Given the description of an element on the screen output the (x, y) to click on. 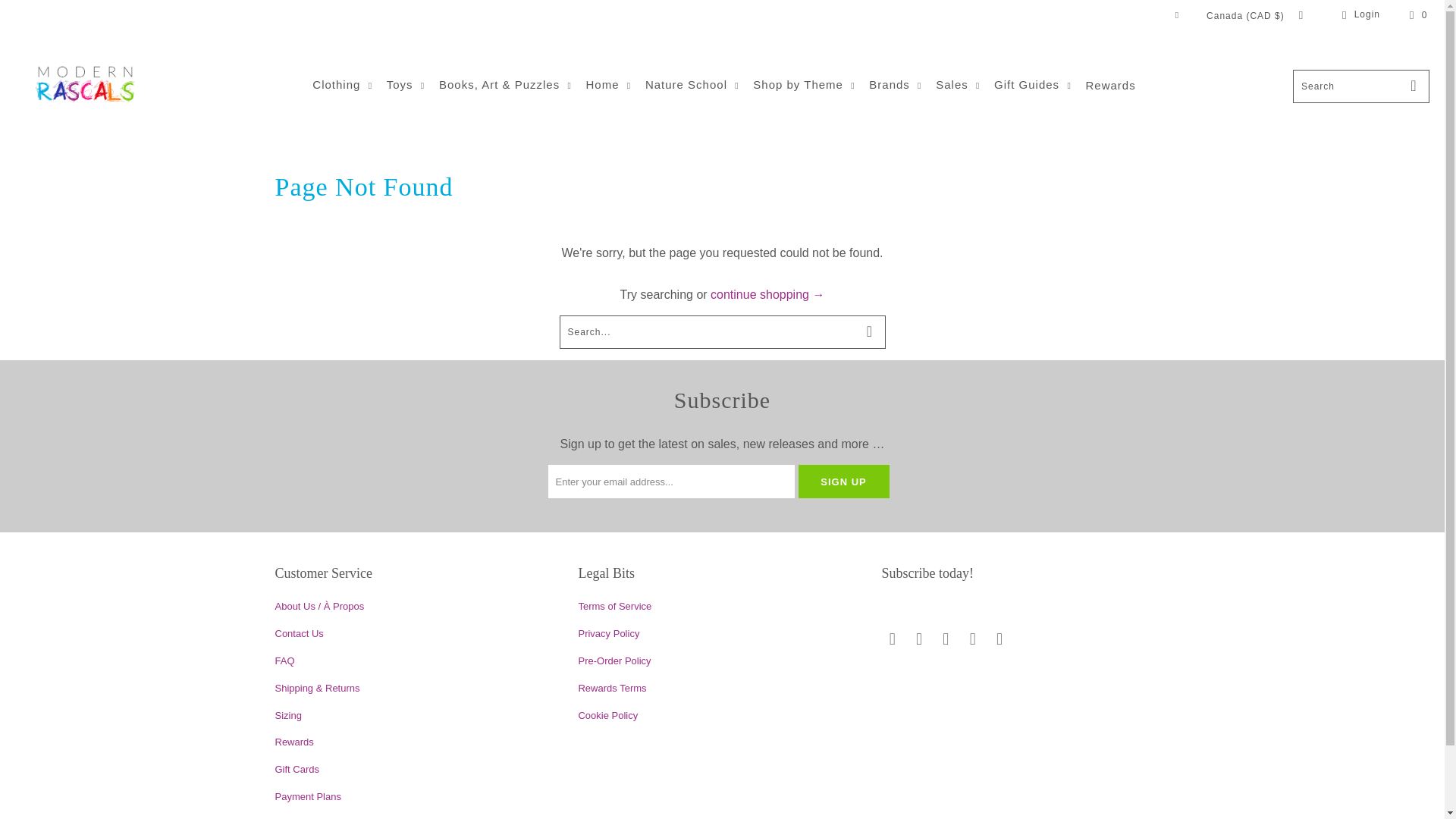
Modern Rascals on YouTube (999, 638)
Sign Up (842, 481)
Email Modern Rascals (892, 638)
Modern Rascals on Instagram (946, 638)
Modern Rascals on Facebook (919, 638)
Modern Rascals on Pinterest (972, 638)
My Account  (1358, 14)
Modern Rascals (84, 85)
